Given the description of an element on the screen output the (x, y) to click on. 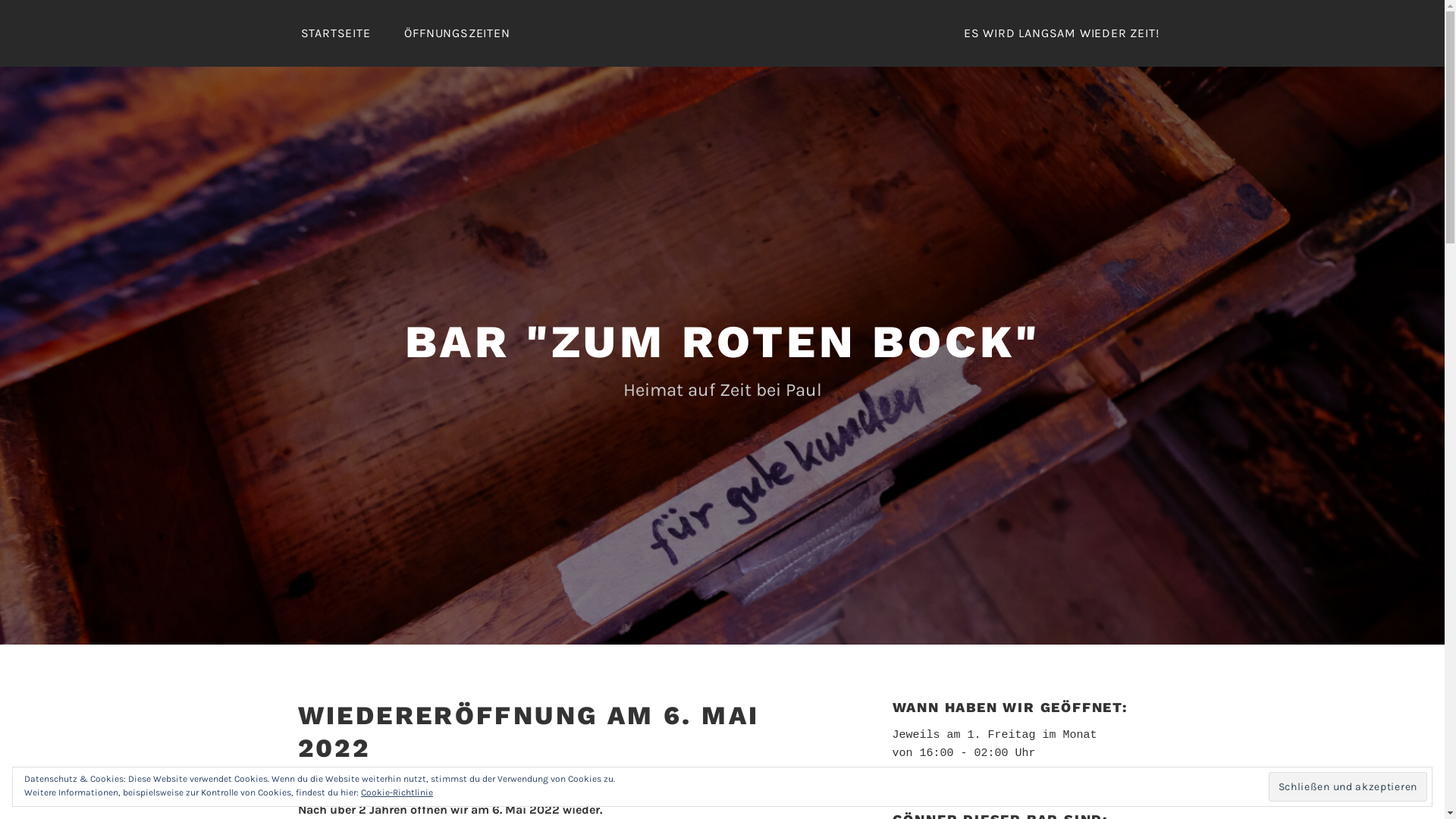
STARTSEITE Element type: text (335, 33)
Cookie-Richtlinie Element type: text (396, 793)
BAR "ZUM ROTEN BOCK" Element type: text (722, 341)
3. April 2022 Element type: text (429, 779)
